Given the description of an element on the screen output the (x, y) to click on. 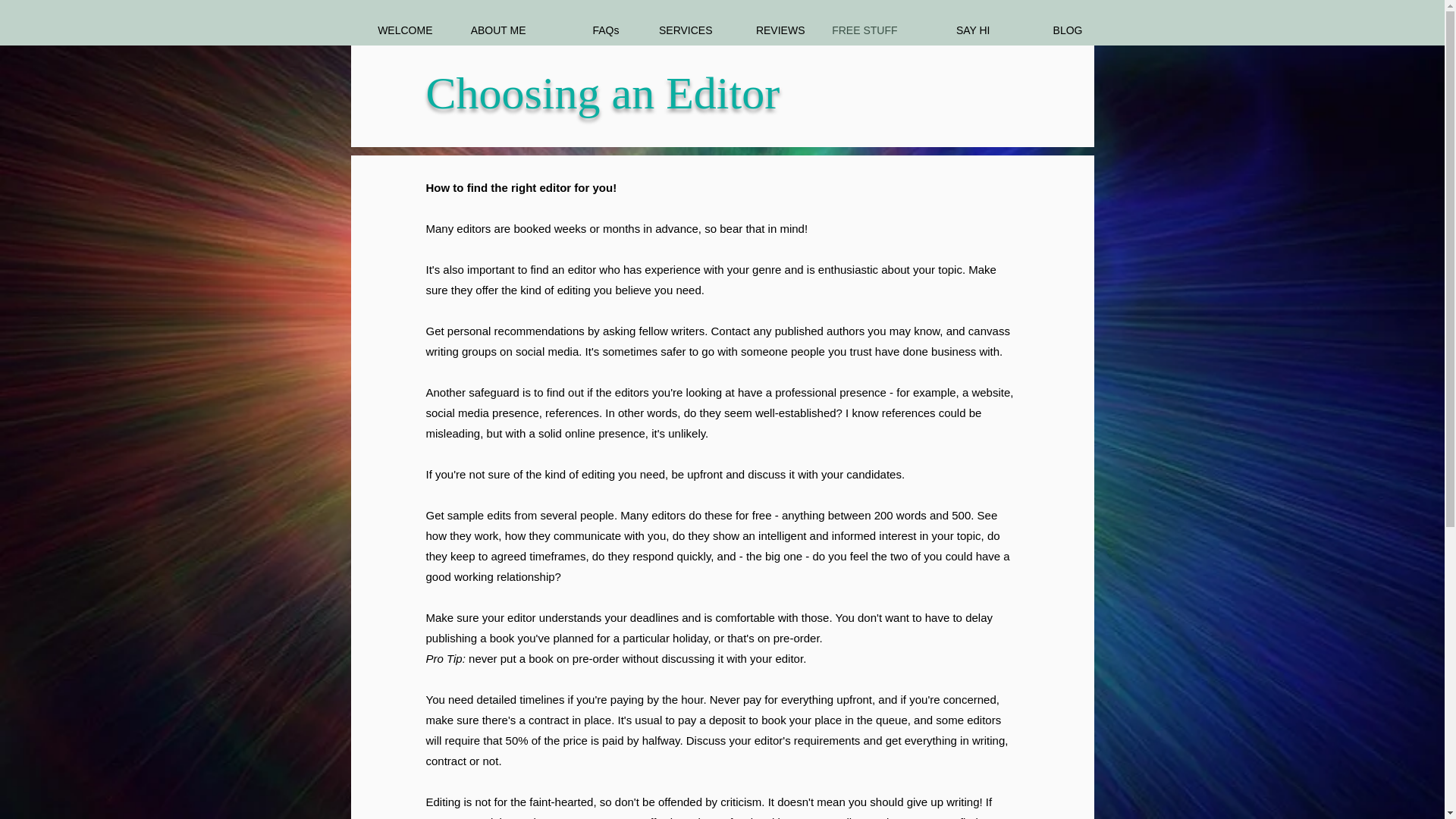
REVIEWS (769, 30)
BLOG (1047, 30)
WELCOME (397, 30)
ABOUT ME (490, 30)
SAY HI (954, 30)
FREE STUFF (861, 30)
FAQs (583, 30)
SERVICES (676, 30)
